Given the description of an element on the screen output the (x, y) to click on. 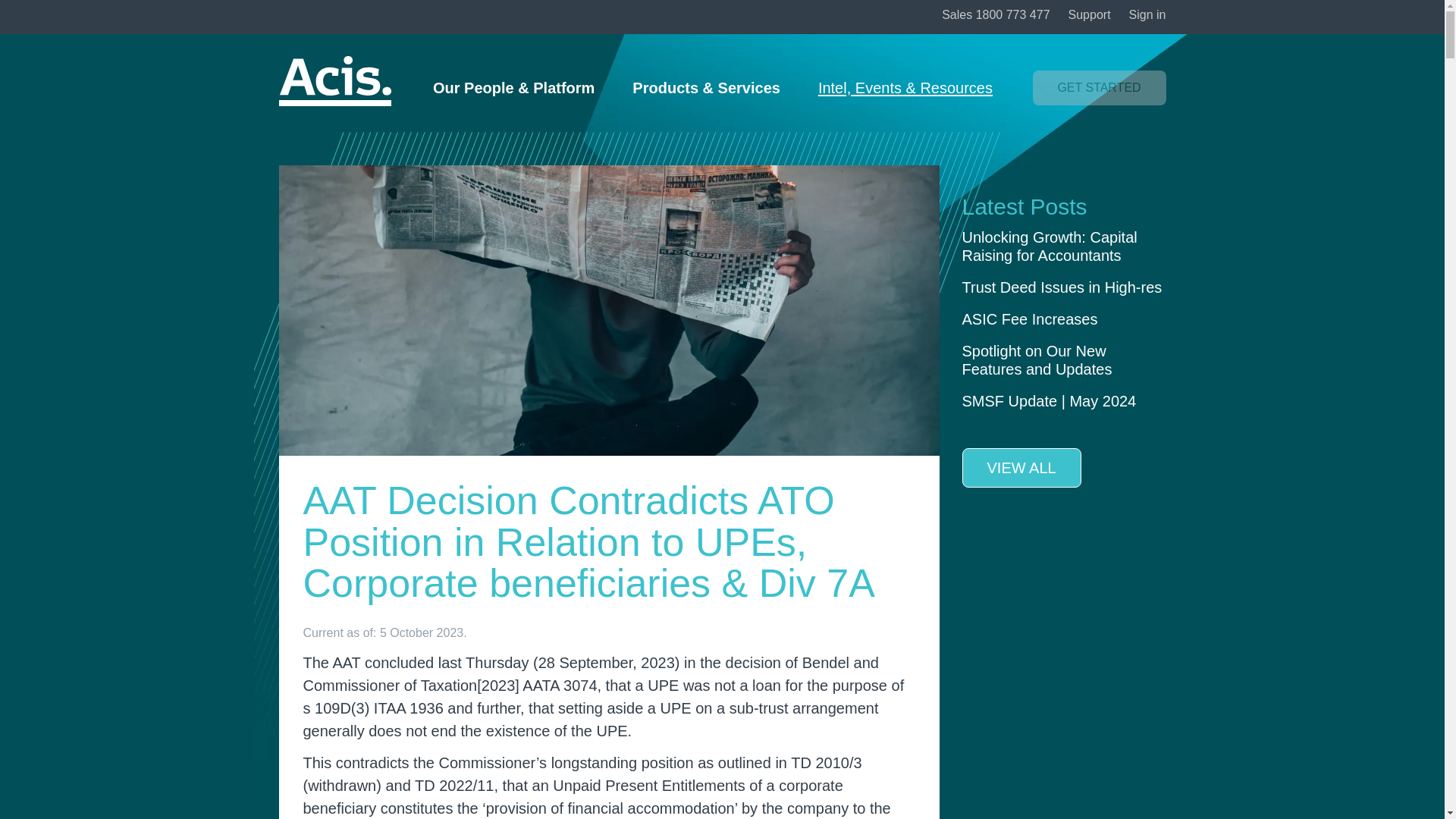
GET STARTED (1099, 87)
VIEW ALL (1020, 467)
Spotlight on Our New Features and Updates (1036, 360)
Acis (335, 81)
ASIC Fee Increases (1028, 319)
Support (1089, 14)
Unlocking Growth: Capital Raising for Accountants (1048, 246)
Sign in (1147, 14)
Trust Deed Issues in High-res (1060, 287)
Sales 1800 773 477 (995, 14)
